Given the description of an element on the screen output the (x, y) to click on. 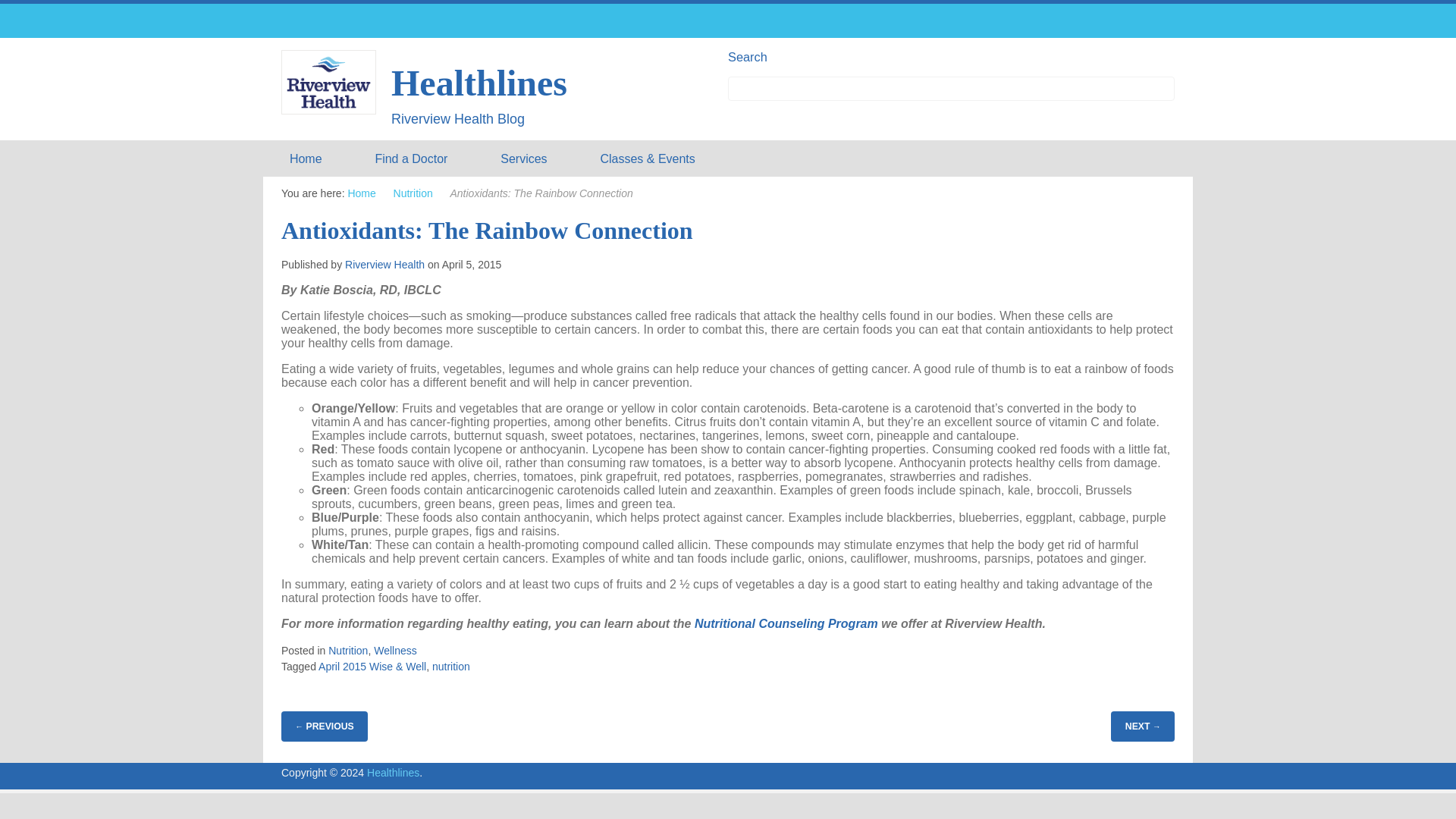
Healthlines (392, 772)
Home (306, 158)
Home (361, 193)
nutrition (451, 666)
Antioxidants: The Rainbow Connection (487, 230)
Healthlines (479, 83)
Wellness (395, 650)
Services (523, 158)
Healthlines (479, 83)
Healthlines (392, 772)
